Given the description of an element on the screen output the (x, y) to click on. 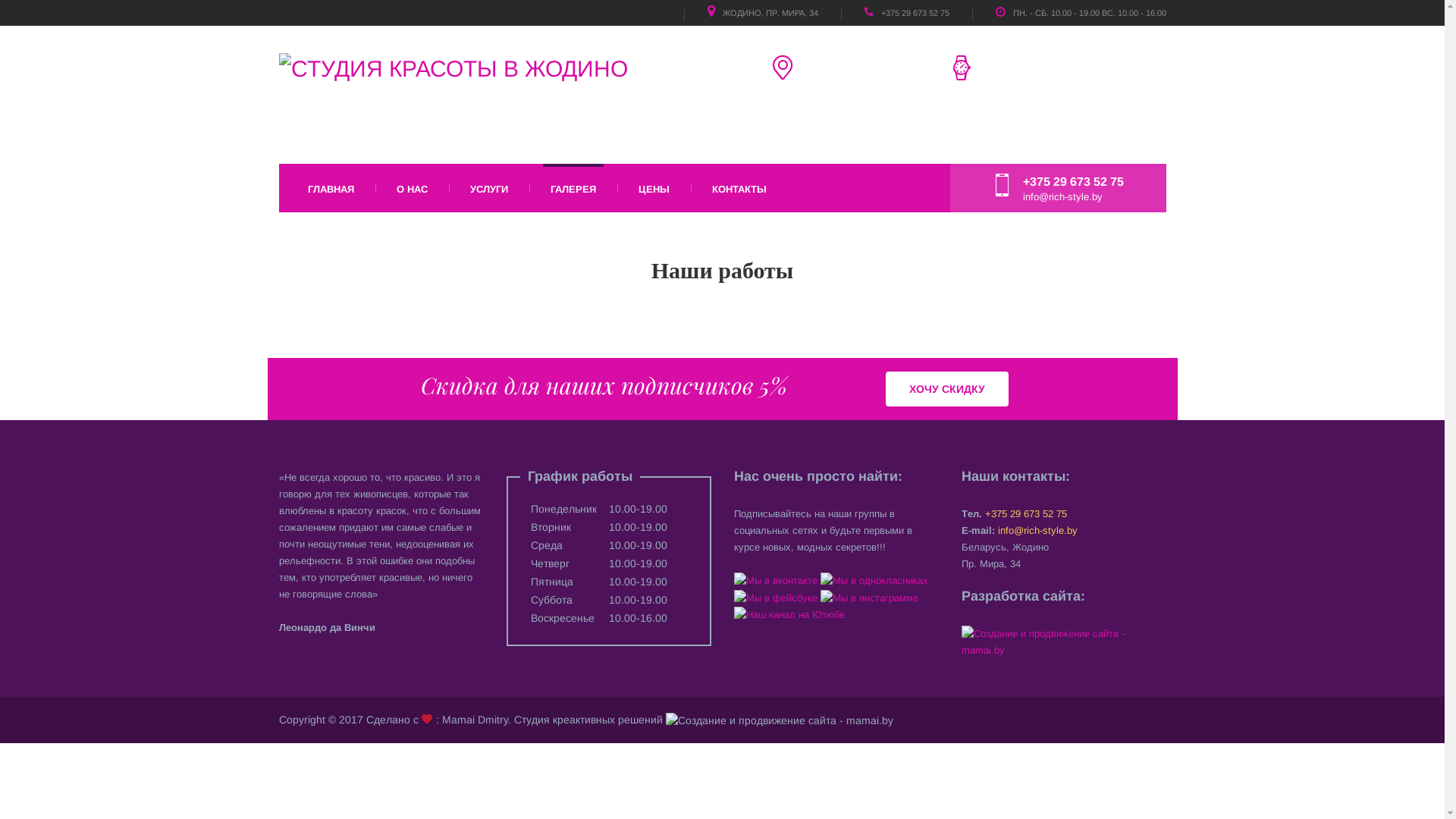
info@rich-style.by Element type: text (1037, 530)
+375 29 673 52 75 Element type: text (1023, 513)
Mamai Dmitry. Element type: text (478, 719)
